Given the description of an element on the screen output the (x, y) to click on. 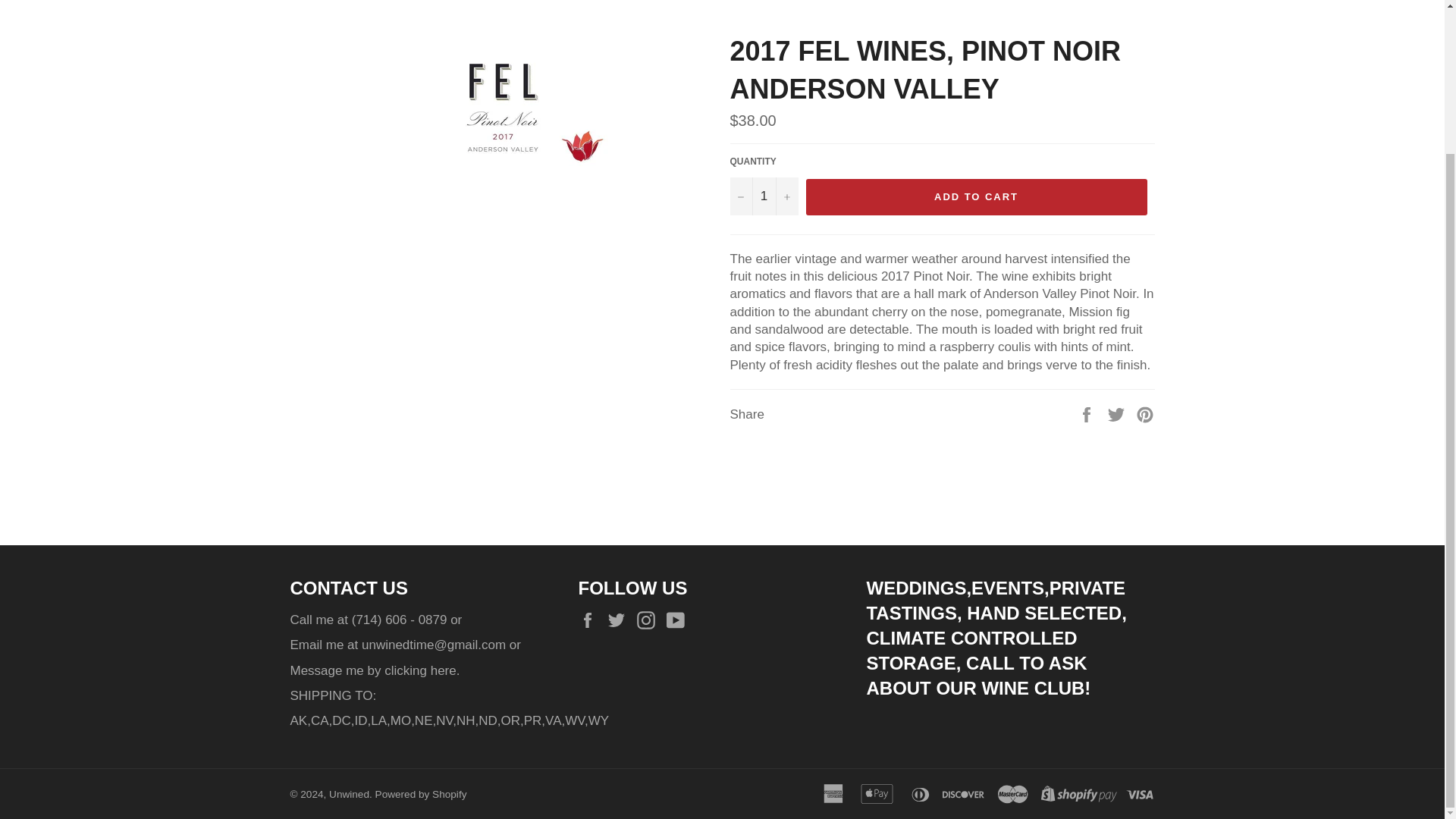
Unwined on YouTube (679, 619)
YouTube (679, 619)
Unwined on Instagram (649, 619)
Pin on Pinterest (1144, 413)
ADD TO CART (976, 197)
Unwined (349, 794)
Twitter (620, 619)
Contact Us (443, 670)
Share on Facebook (1088, 413)
here (443, 670)
1 (763, 195)
Unwined on Twitter (620, 619)
Share on Facebook (1088, 413)
Instagram (649, 619)
Tweet on Twitter (1117, 413)
